Given the description of an element on the screen output the (x, y) to click on. 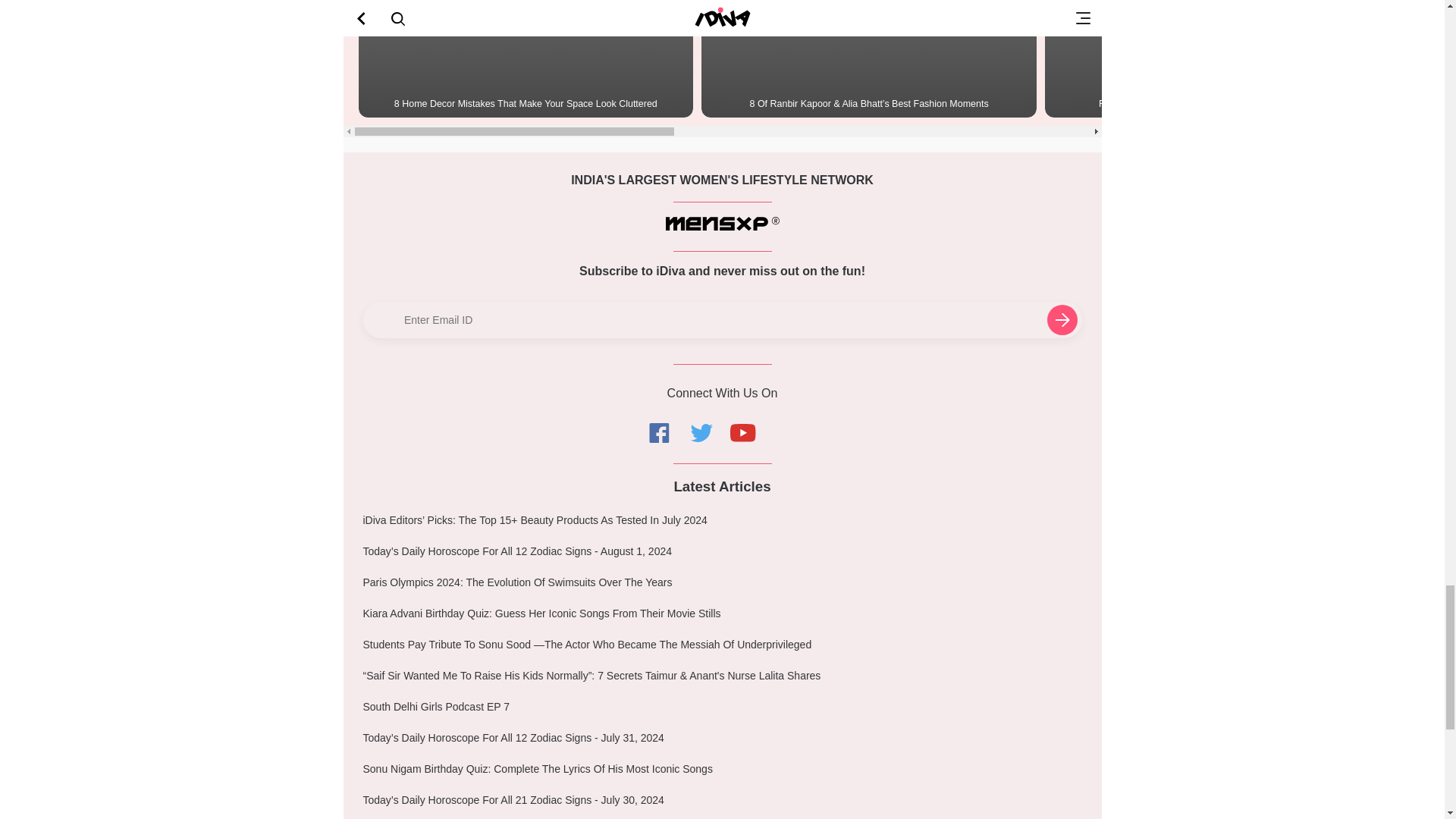
8 Home Decor Mistakes That Make Your Space Look Cluttered (525, 58)
